Given the description of an element on the screen output the (x, y) to click on. 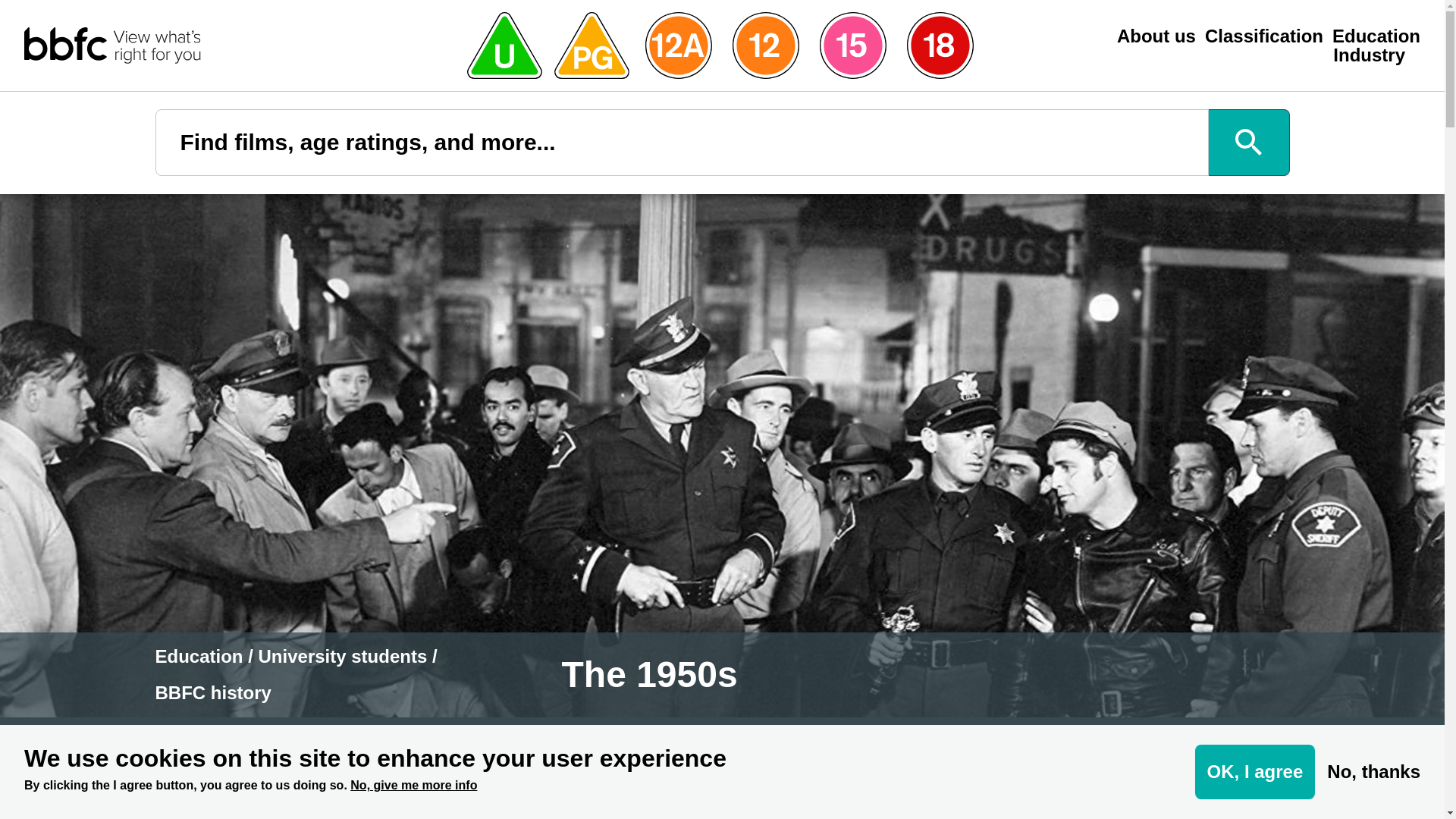
Classification (1264, 36)
Industry (1369, 54)
BBFC history (212, 692)
About us (1155, 36)
Education (1376, 36)
Education (198, 656)
University students (343, 656)
